Given the description of an element on the screen output the (x, y) to click on. 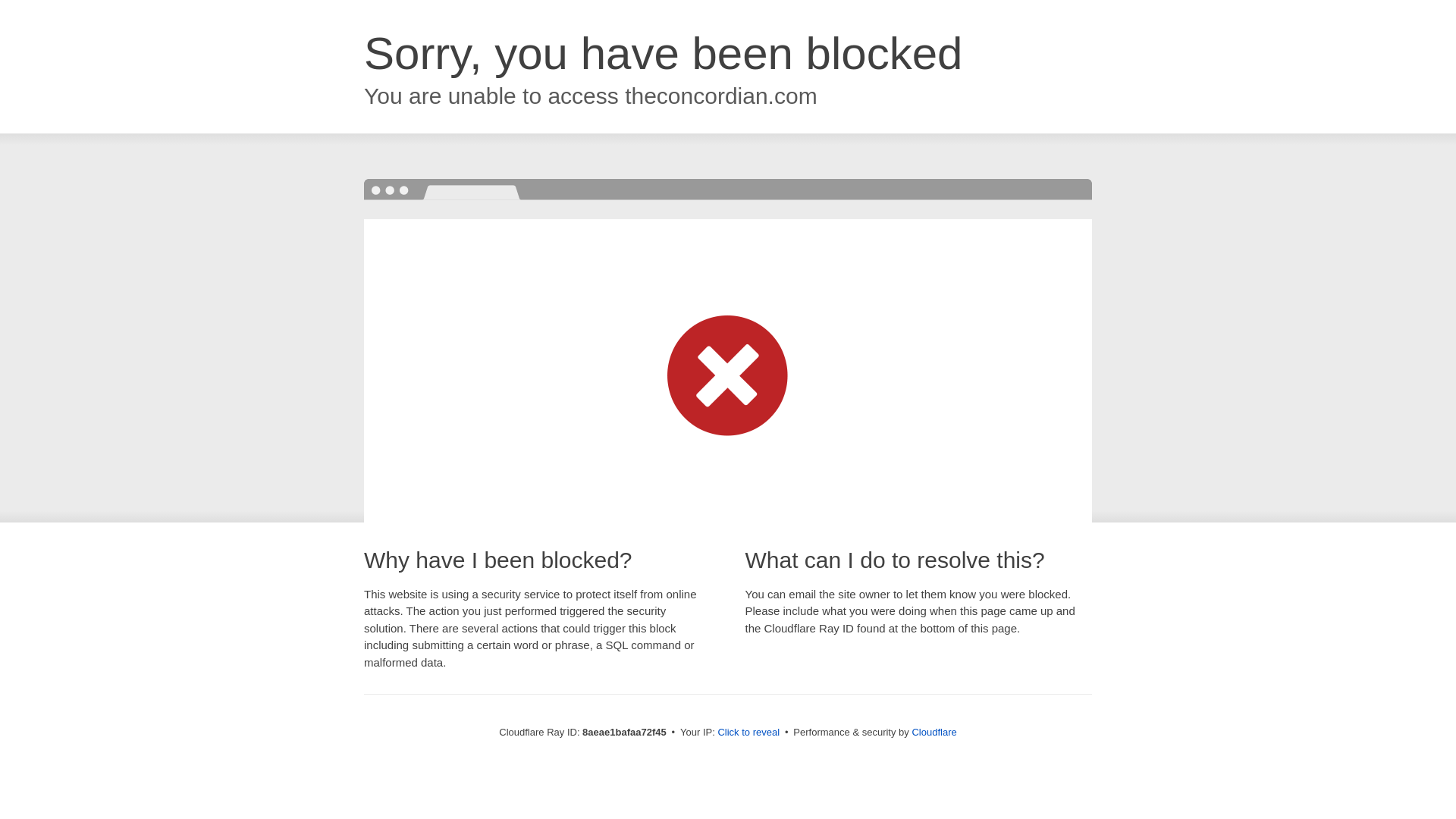
Click to reveal (747, 732)
Cloudflare (933, 731)
